Given the description of an element on the screen output the (x, y) to click on. 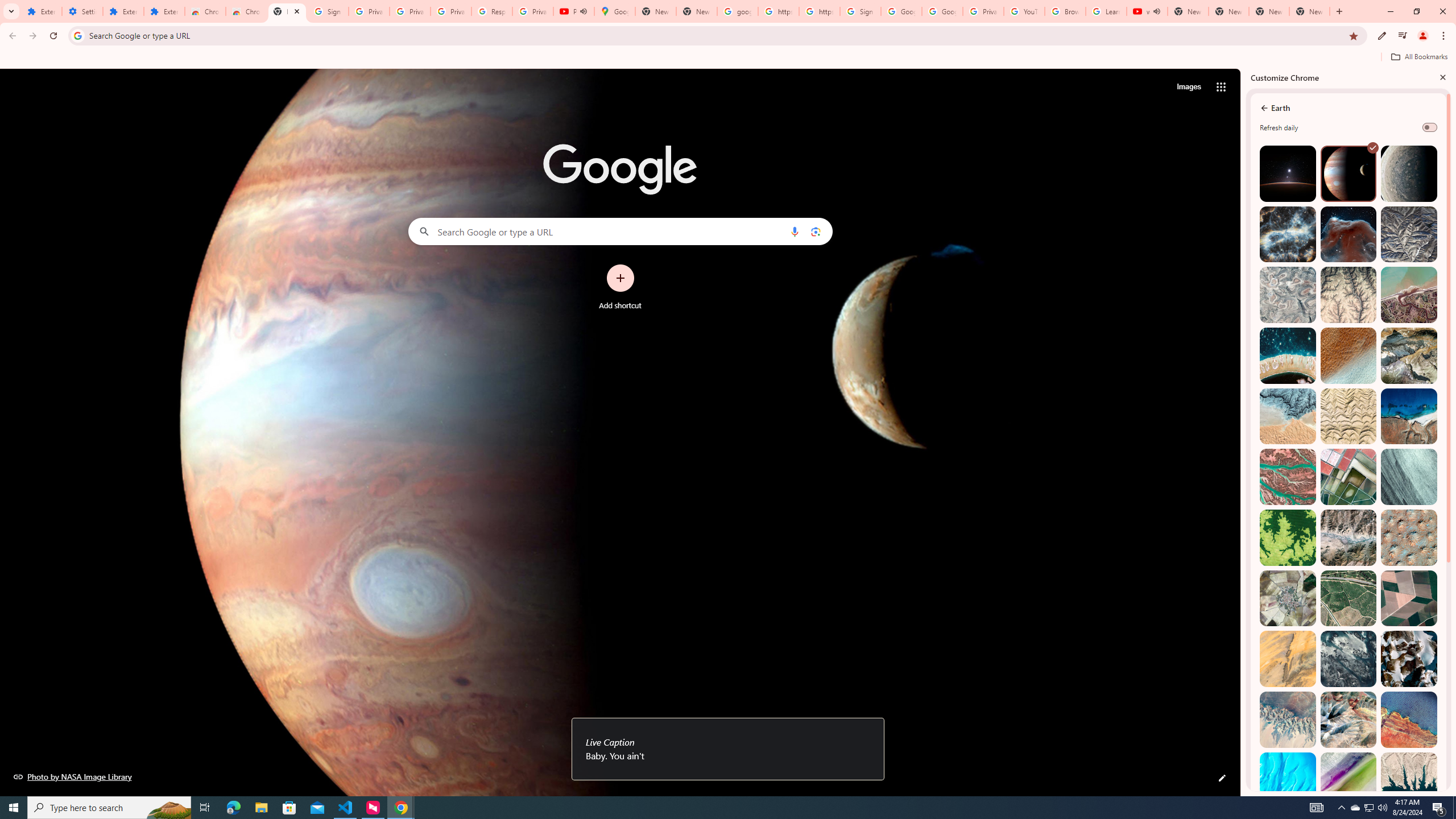
Settings (81, 11)
Chrome Web Store - Themes (246, 11)
Rikaze, China (1348, 537)
AutomationID: svg (1372, 147)
Mute tab (1156, 10)
Browse Chrome as a guest - Computer - Google Chrome Help (1064, 11)
Add shortcut (620, 287)
Isla Cristina, Spain (1348, 598)
